Given the description of an element on the screen output the (x, y) to click on. 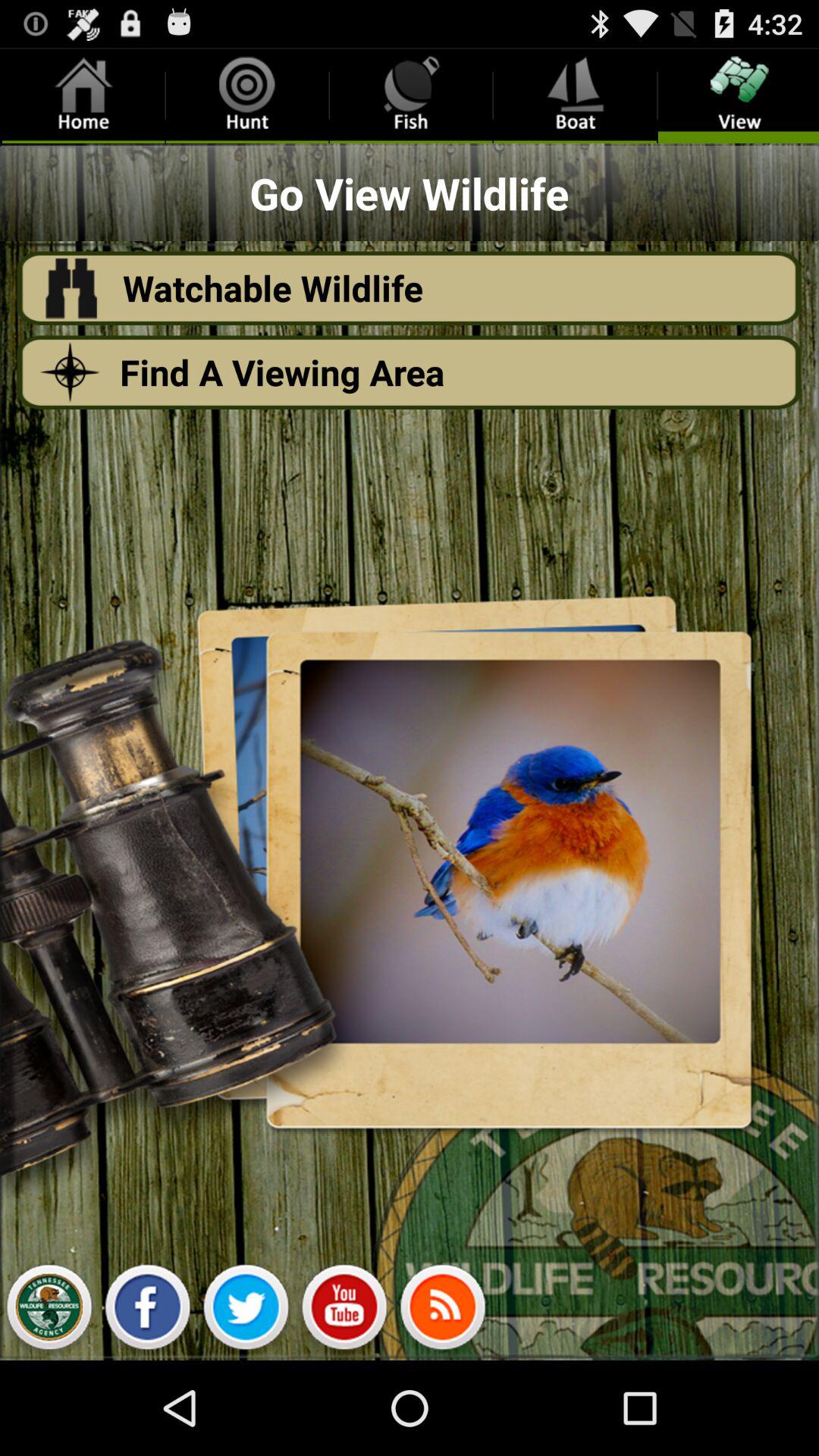
youtube logo (344, 1311)
